Given the description of an element on the screen output the (x, y) to click on. 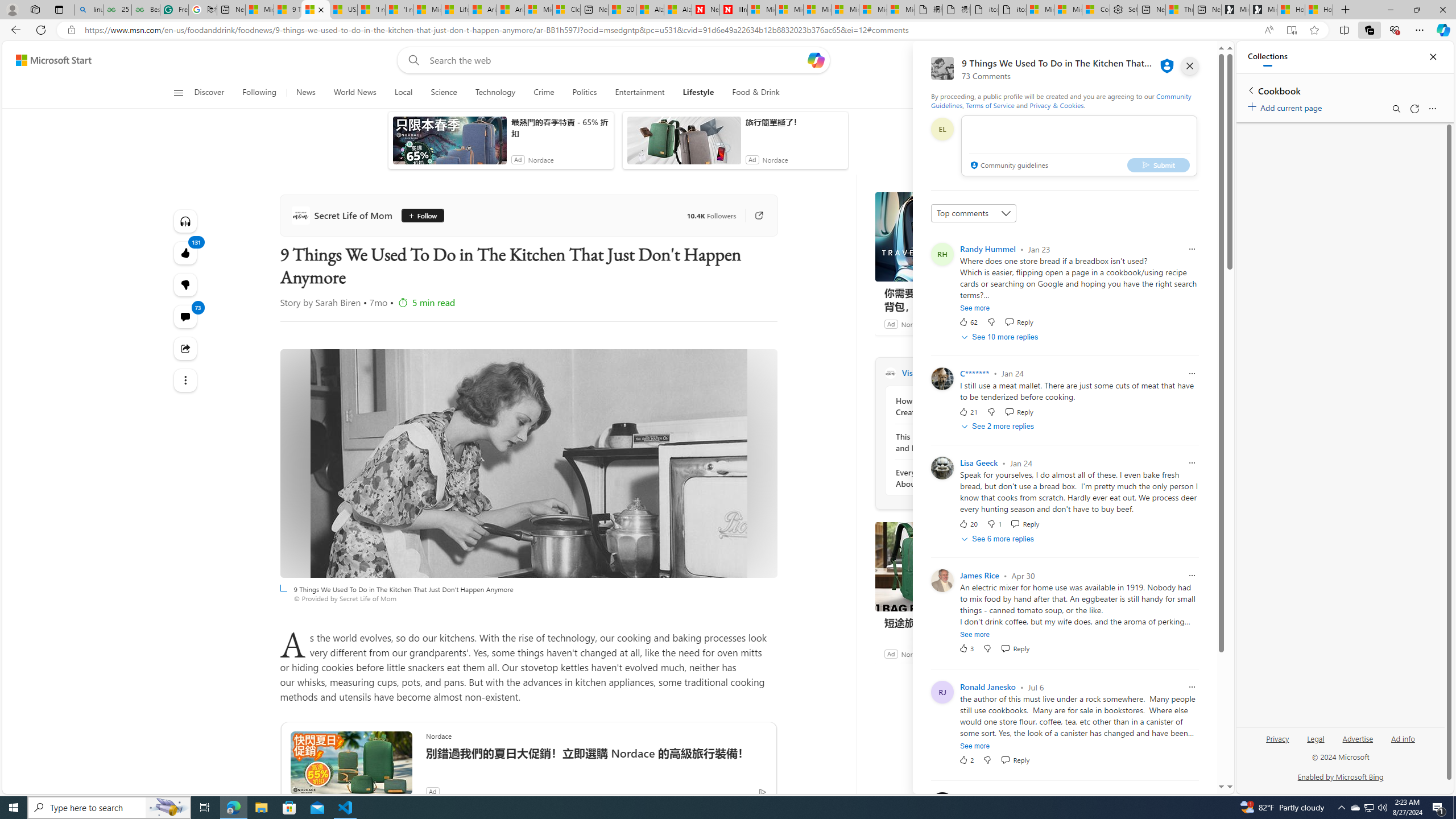
See 10 more replies (1000, 336)
Add current page (1286, 105)
Reply Reply Comment (1015, 759)
Go to publisher's site (752, 215)
Submit (1157, 164)
